Given the description of an element on the screen output the (x, y) to click on. 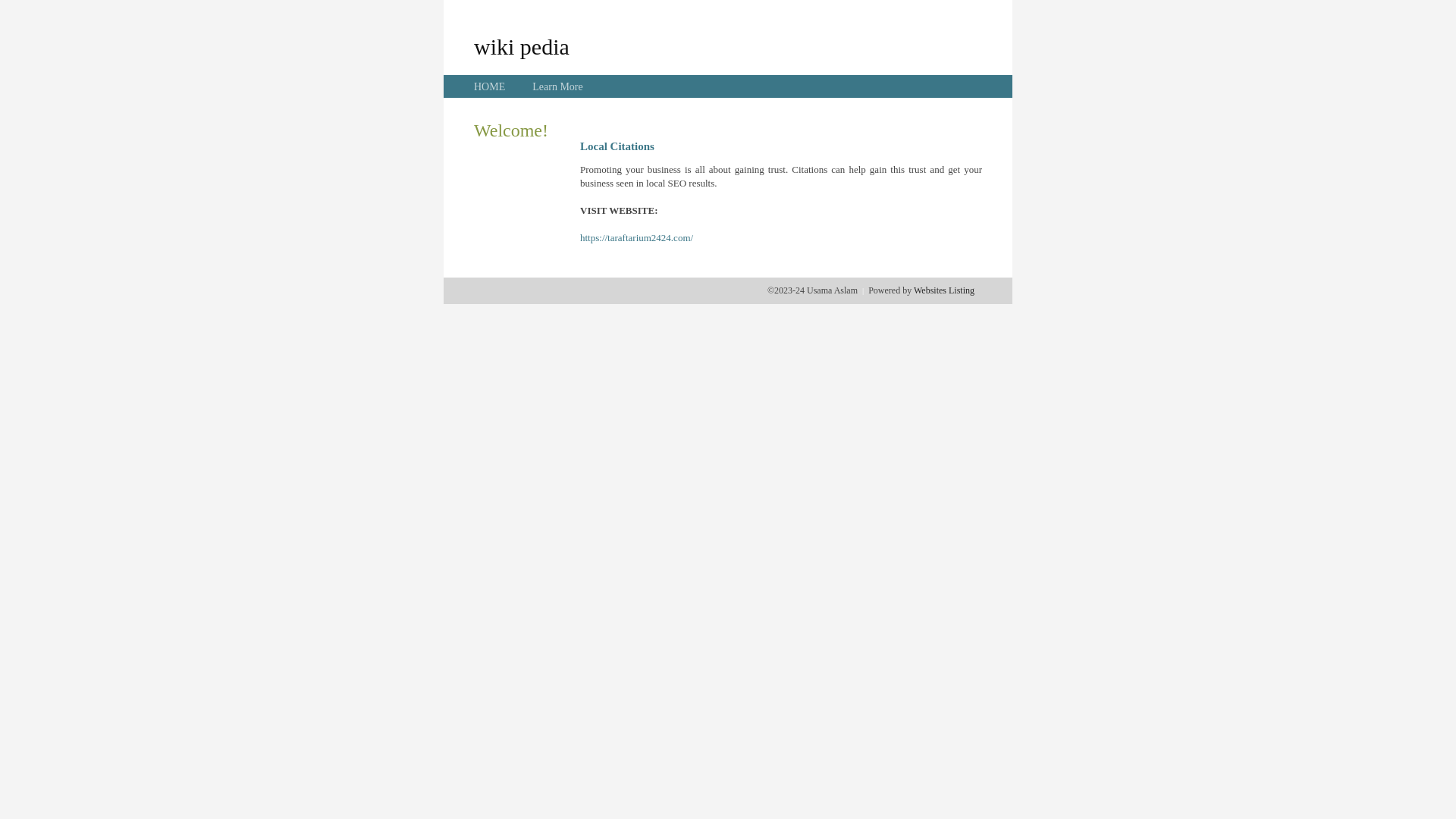
wiki pedia Element type: text (521, 46)
HOME Element type: text (489, 86)
Websites Listing Element type: text (943, 290)
https://taraftarium2424.com/ Element type: text (636, 237)
Learn More Element type: text (557, 86)
